Given the description of an element on the screen output the (x, y) to click on. 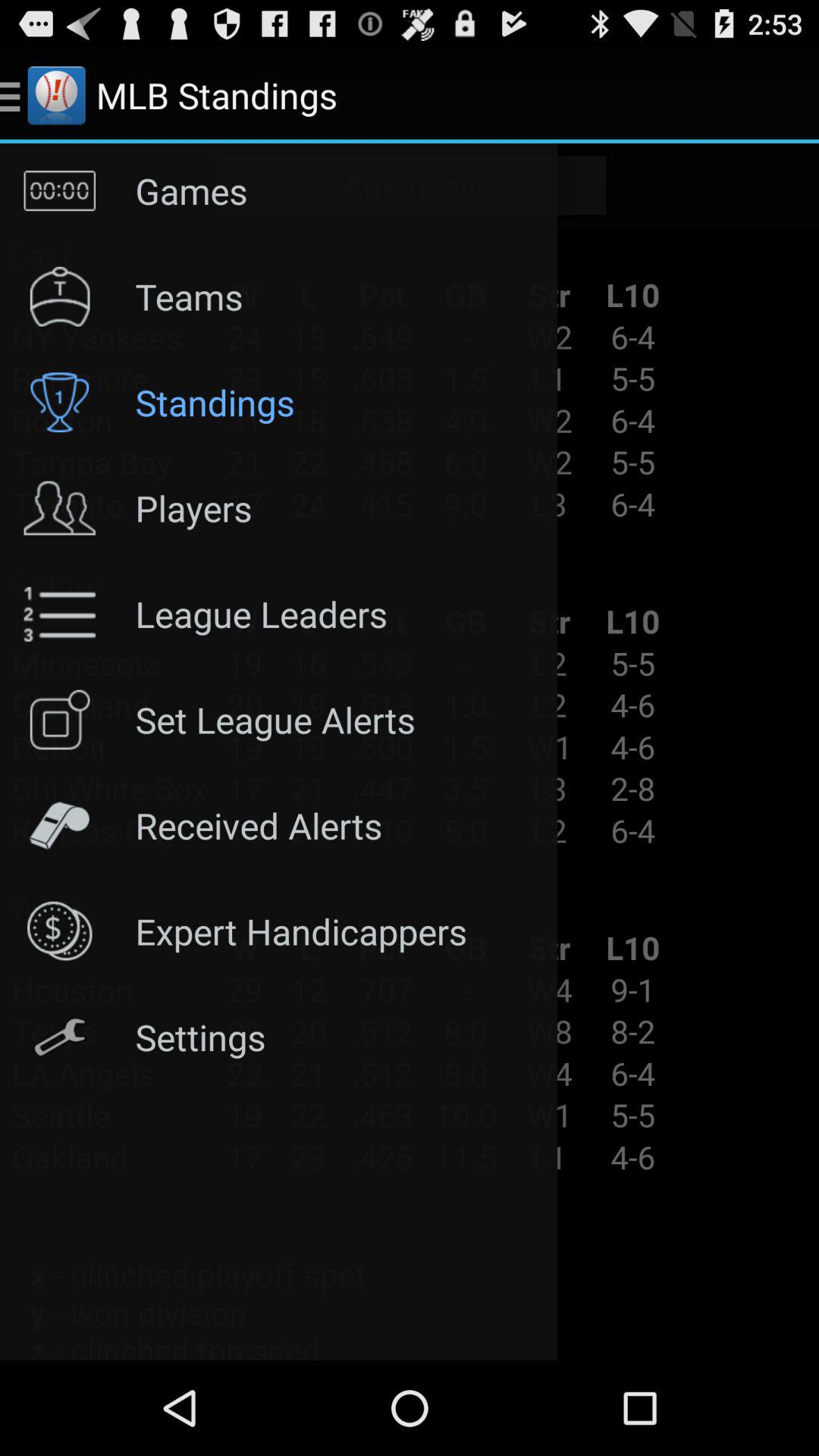
click on icon beside settings (59, 1037)
click on icon beside received alerts (59, 824)
click on the third icon from the top of the page (59, 402)
